Given the description of an element on the screen output the (x, y) to click on. 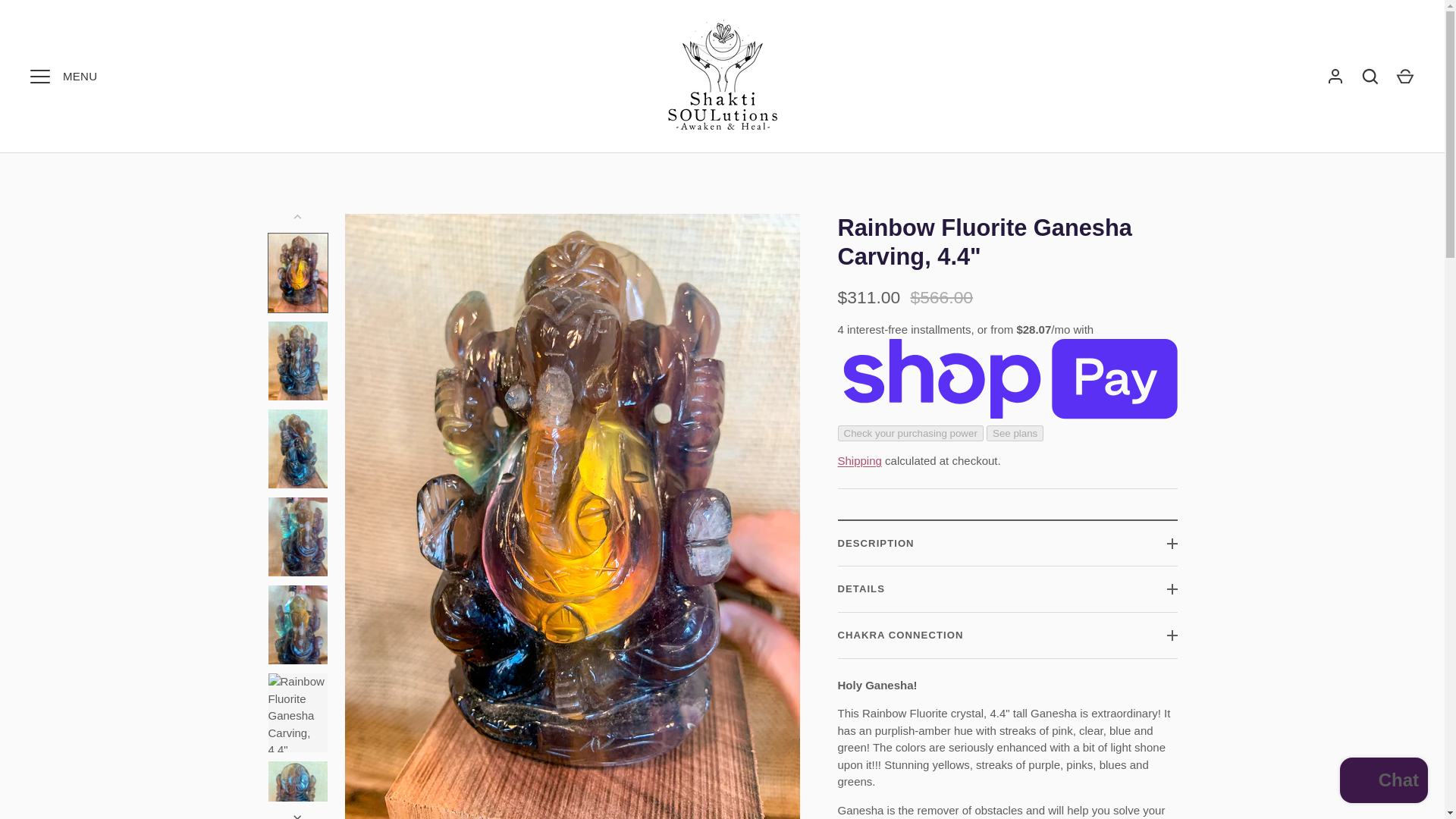
Shopify online store chat (1383, 781)
